Given the description of an element on the screen output the (x, y) to click on. 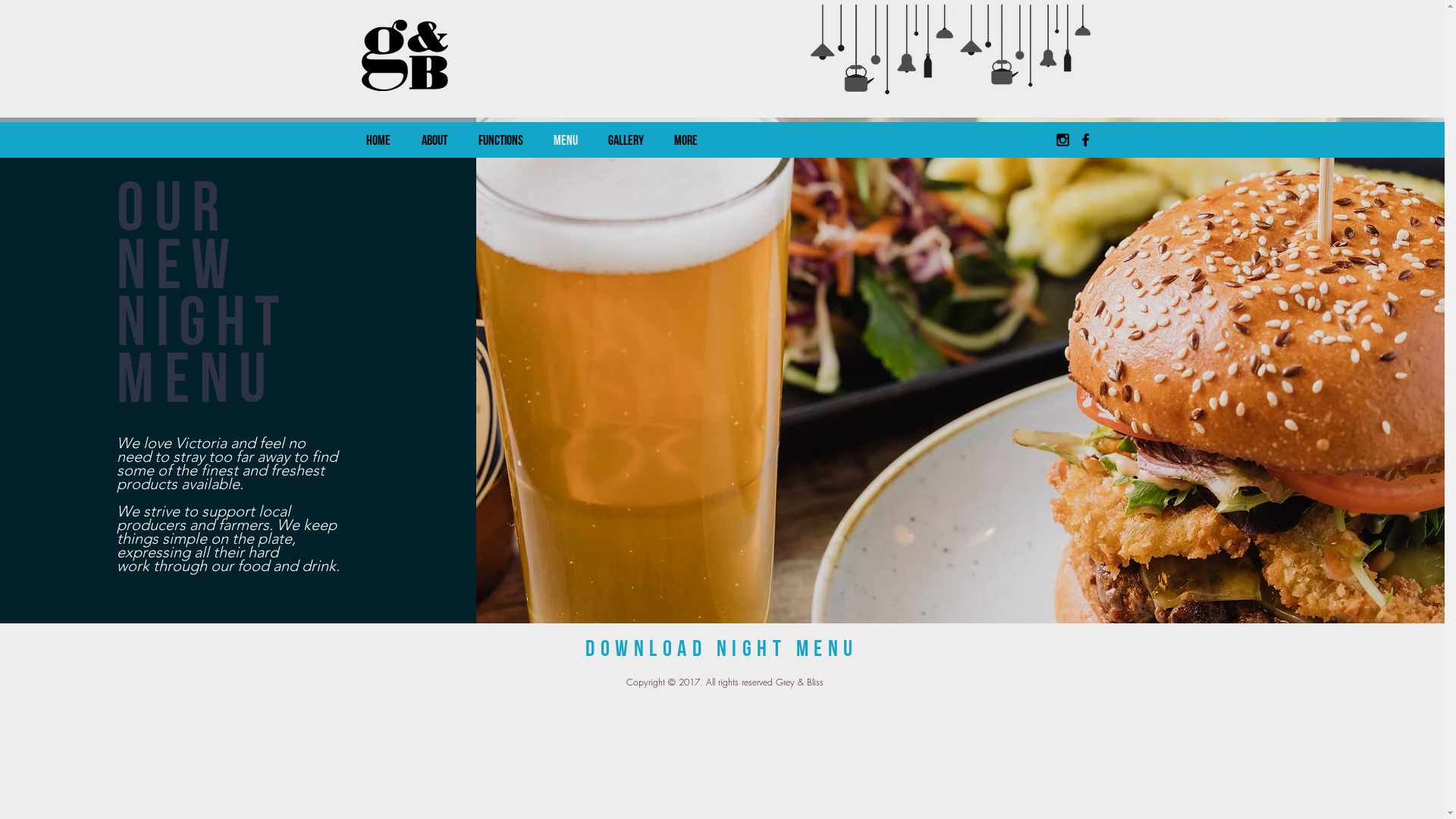
FUNCTIONS Element type: text (499, 139)
GALLERY Element type: text (625, 139)
ABOUT Element type: text (434, 139)
HOME Element type: text (377, 139)
MENU Element type: text (565, 139)
